Given the description of an element on the screen output the (x, y) to click on. 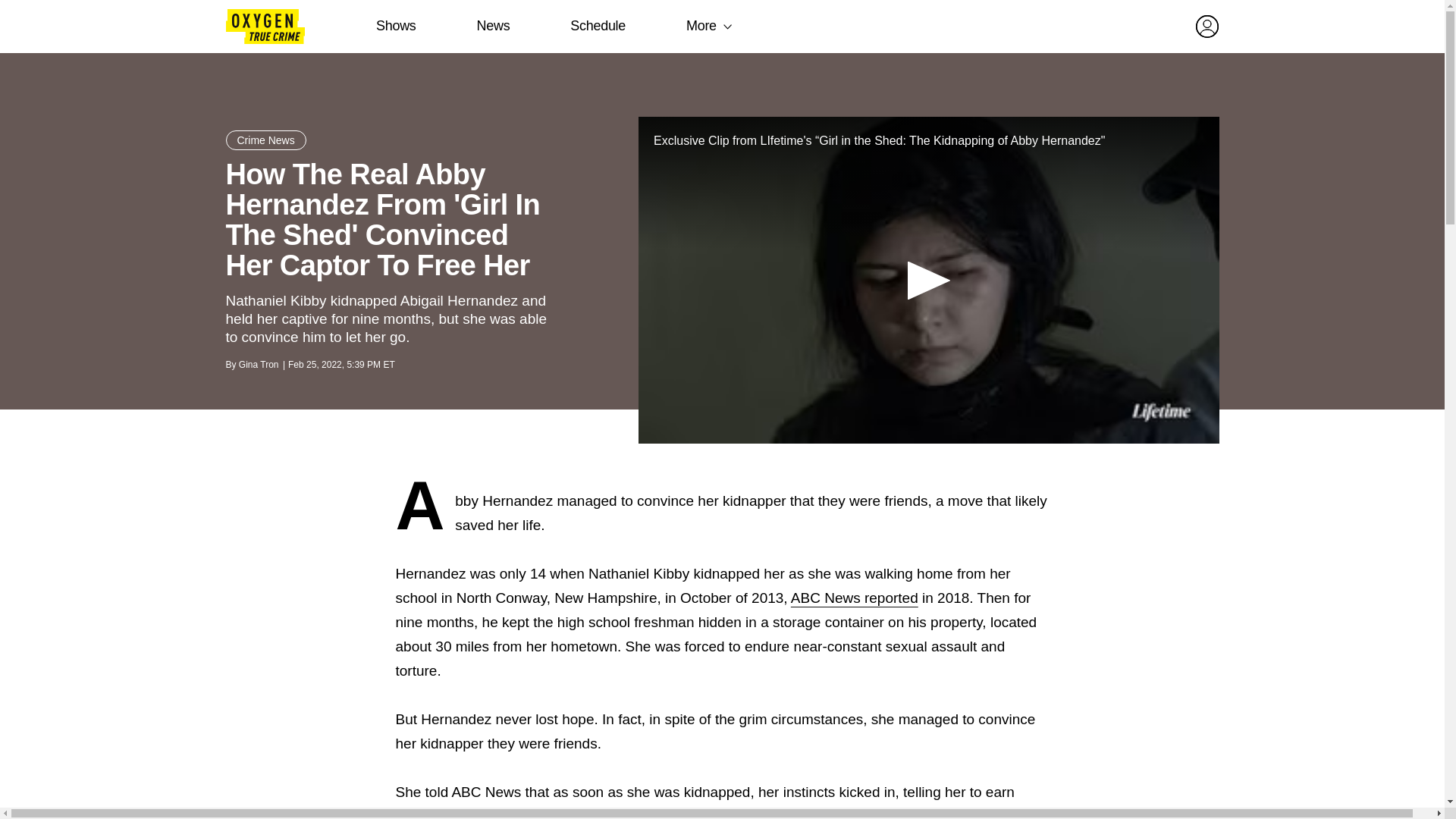
Crime News (265, 139)
Gina Tron (258, 364)
ABC News reported (854, 597)
News (492, 26)
Shows (395, 26)
Schedule (598, 26)
More (700, 26)
